Given the description of an element on the screen output the (x, y) to click on. 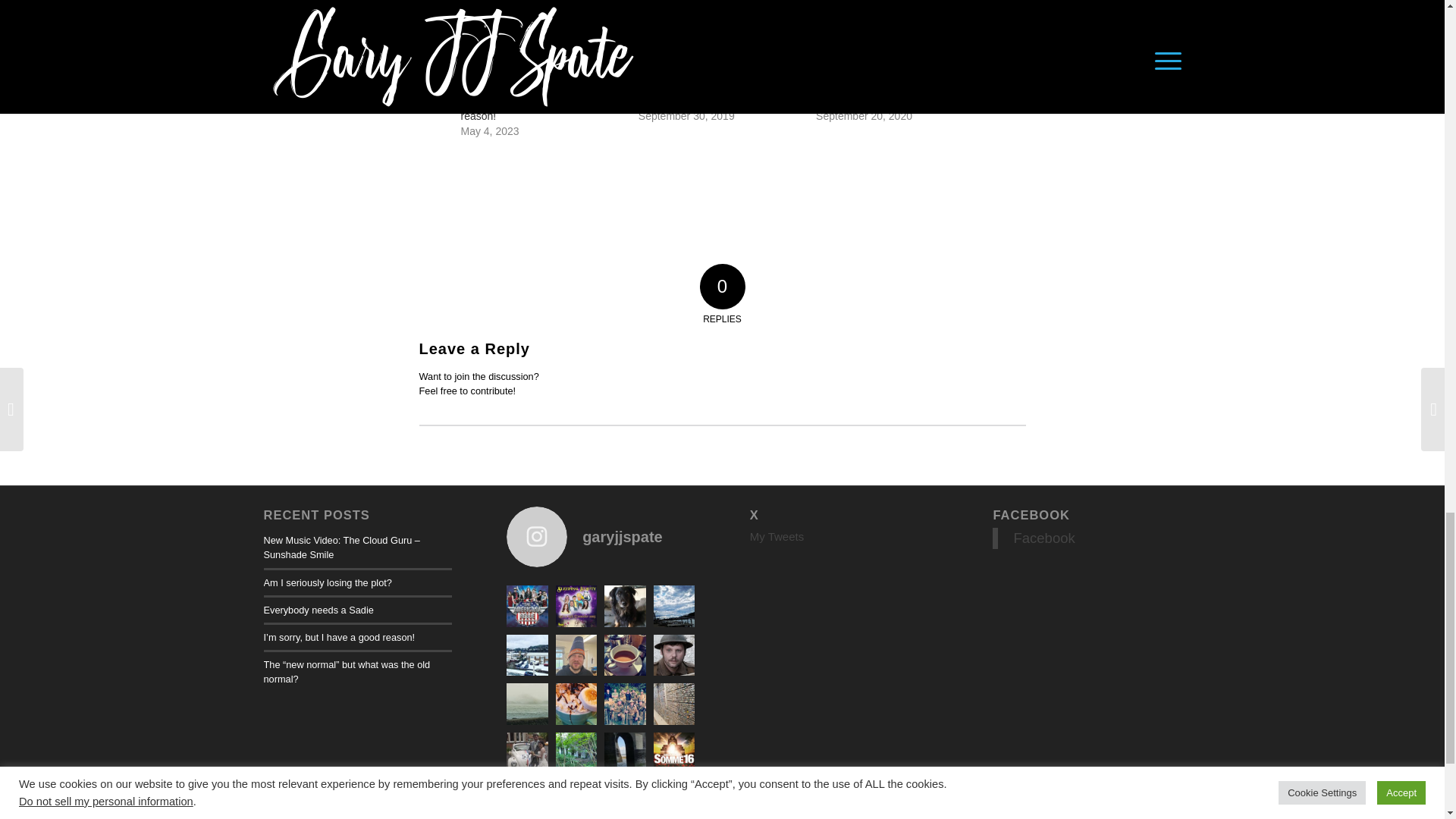
An indescribable pain (689, 101)
Am I seriously losing the plot? (327, 582)
Life Imitating Art (853, 101)
garyjjspate (600, 536)
Everybody needs a Sadie (318, 609)
